Given the description of an element on the screen output the (x, y) to click on. 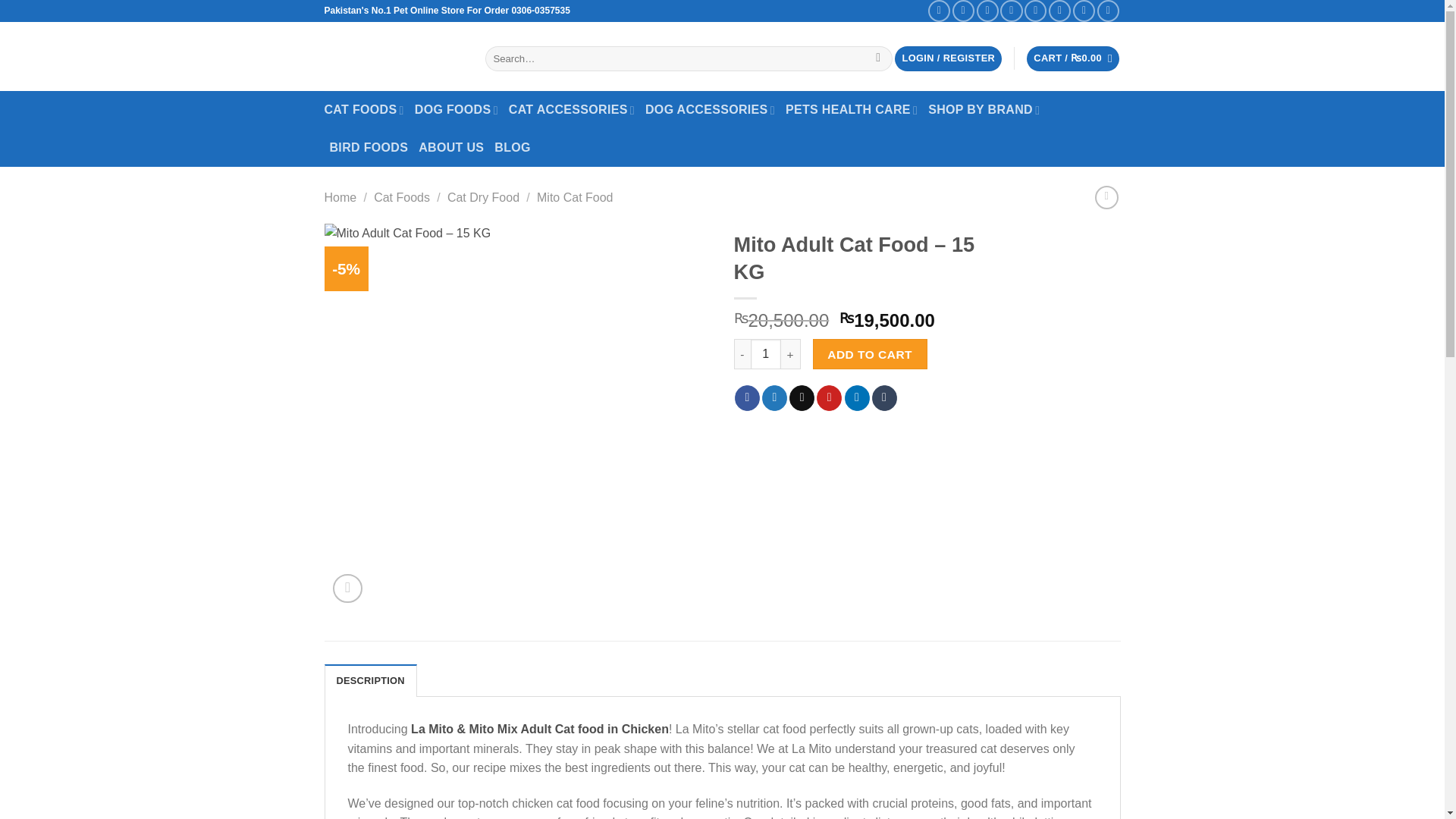
Follow on Facebook (939, 11)
1 (765, 354)
Follow on LinkedIn (1083, 11)
Search (878, 58)
Follow on Instagram (963, 11)
CAT FOODS (364, 109)
Follow on YouTube (1108, 11)
Call us (1035, 11)
DOG FOODS (455, 109)
Follow on TikTok (987, 11)
Send us an email (1011, 11)
Follow on Pinterest (1059, 11)
